Given the description of an element on the screen output the (x, y) to click on. 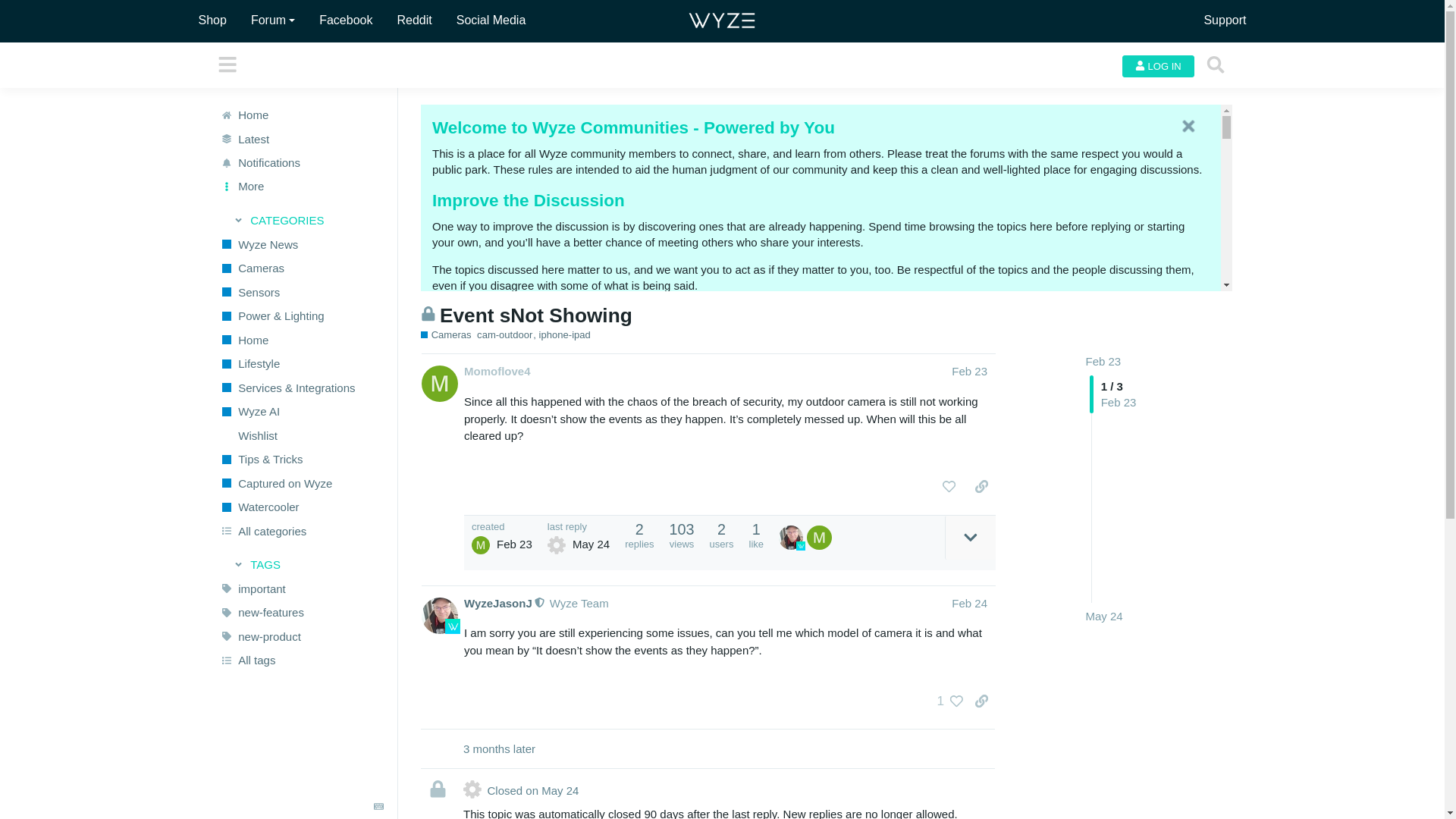
CATEGORIES (301, 219)
Search (1215, 64)
Sidebar (227, 64)
All topics (301, 138)
Social Media (491, 19)
More (301, 186)
Sensors (301, 291)
TAGS (301, 564)
Latest (301, 138)
All categories (301, 530)
Reddit (413, 19)
Wishlist (301, 435)
Wyze AI (301, 411)
